Given the description of an element on the screen output the (x, y) to click on. 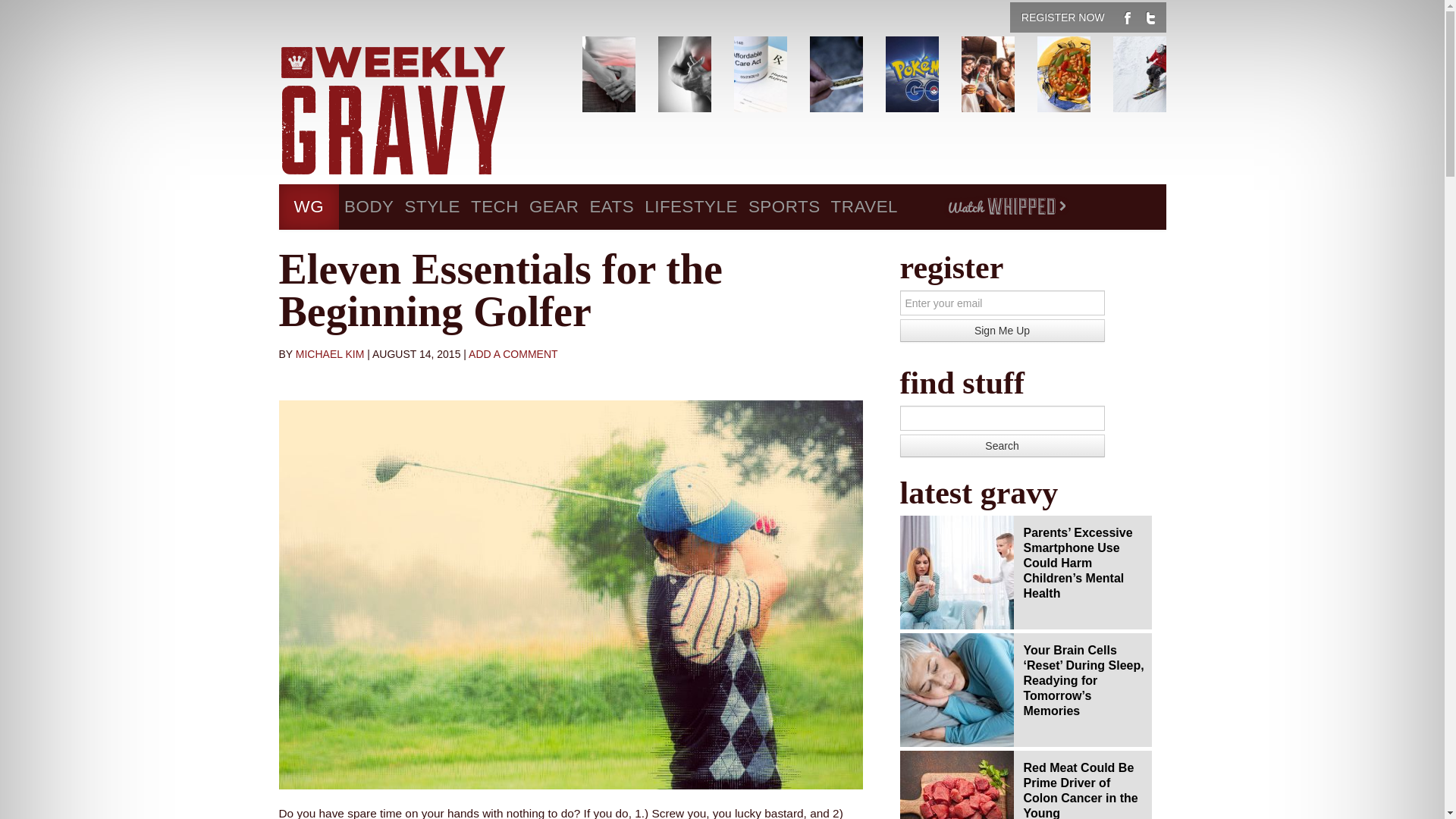
Ready for Spring Break? Have Fun But Play It Safe (1017, 74)
REGISTER NOW (1062, 16)
WHIPPED (1006, 207)
Germs, Mold Found in Some Medical Pot (866, 74)
Skip to primary content (329, 191)
MICHAEL KIM (330, 354)
View all posts by Michael Kim (330, 354)
LIFESTYLE (690, 207)
ADD A COMMENT (512, 354)
TRAVEL (863, 207)
